Given the description of an element on the screen output the (x, y) to click on. 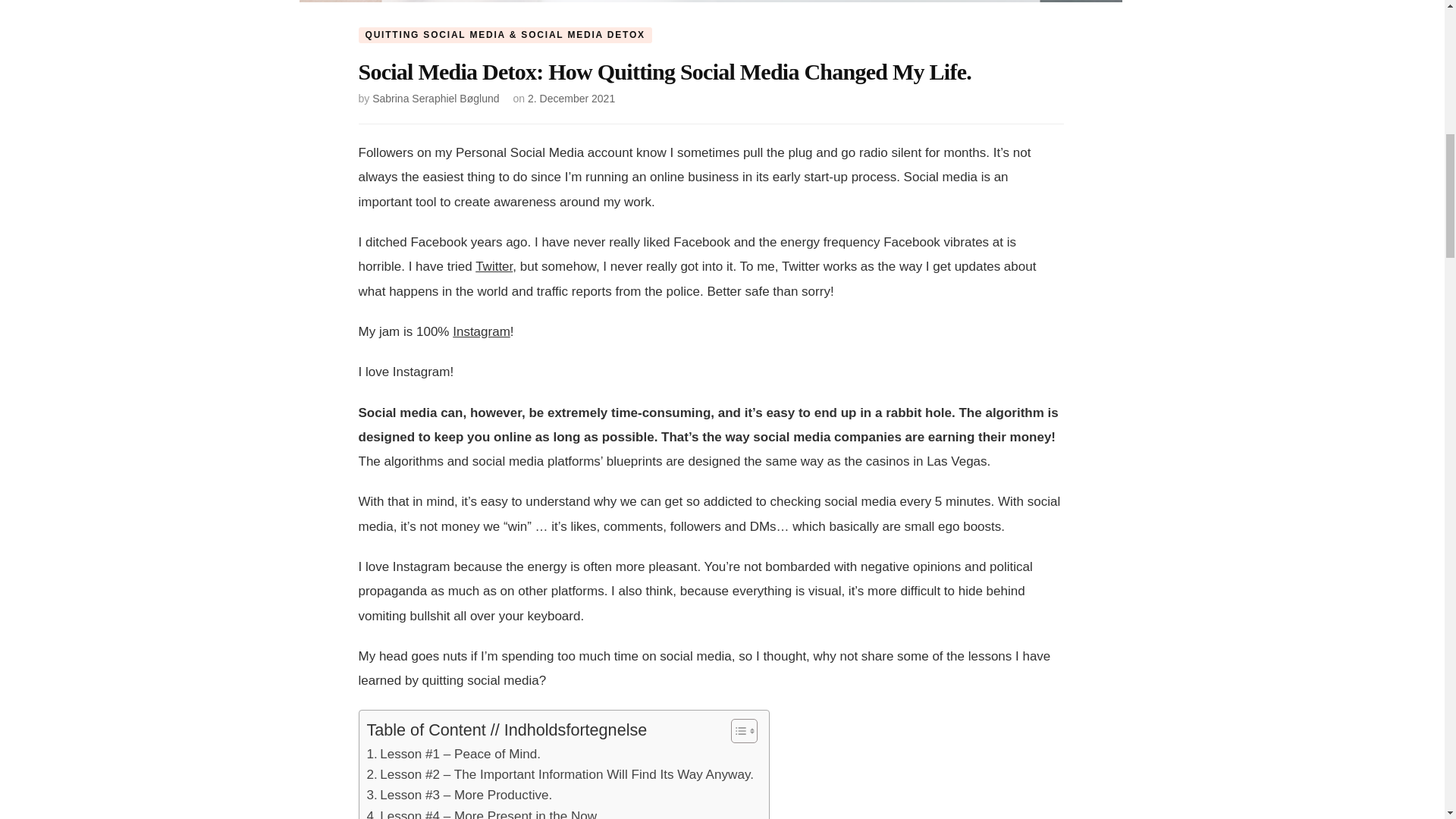
2. December 2021 (570, 98)
Twitter (494, 266)
Instagram (481, 331)
